Given the description of an element on the screen output the (x, y) to click on. 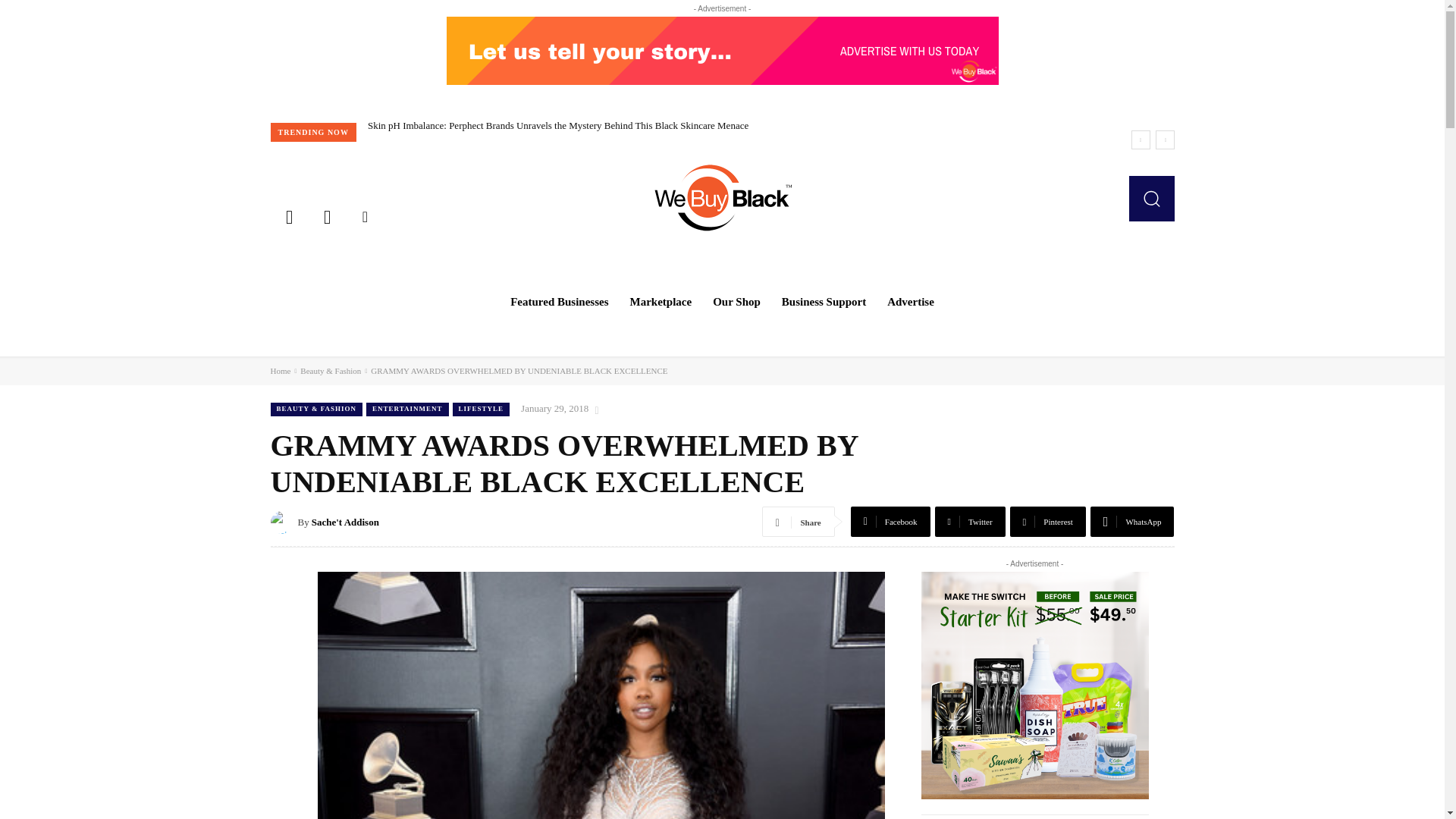
Our Shop (736, 301)
Business Support (823, 301)
Featured Businesses (558, 301)
Marketplace (661, 301)
Advertise (910, 301)
Twitter (365, 216)
Instagram (326, 216)
Facebook (288, 216)
